Given the description of an element on the screen output the (x, y) to click on. 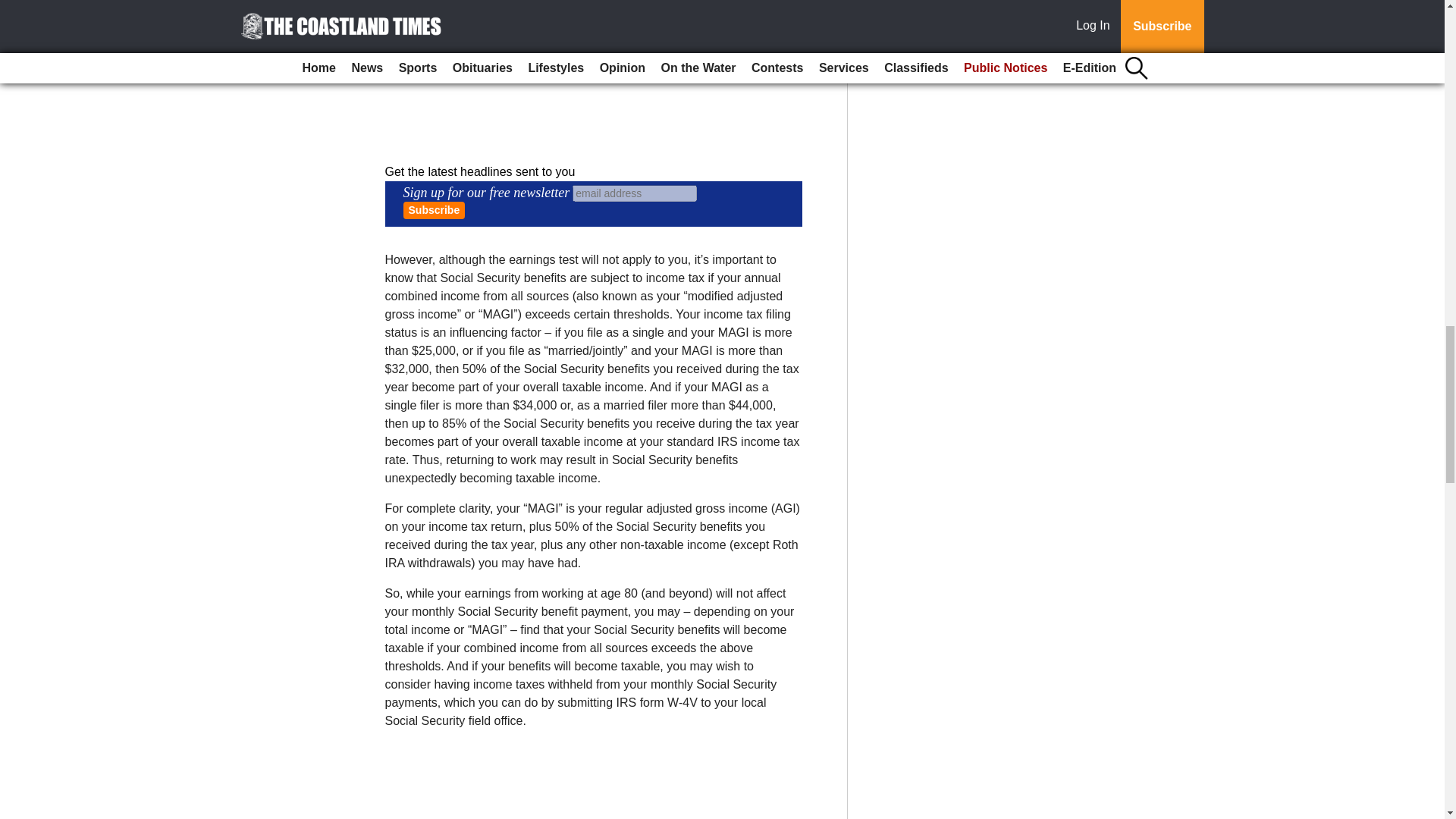
Subscribe (434, 210)
Subscribe (434, 210)
